Given the description of an element on the screen output the (x, y) to click on. 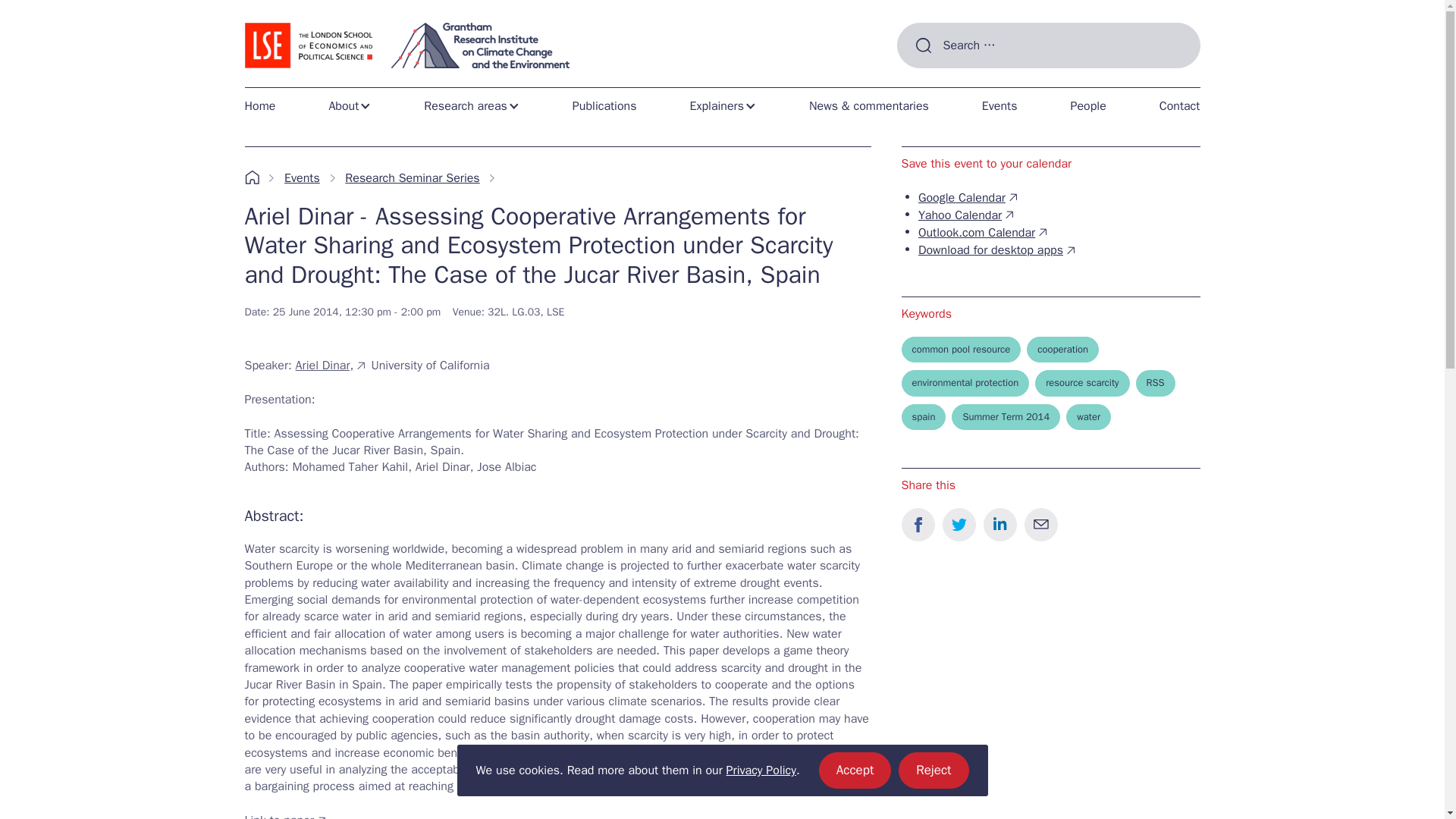
Download for desktop apps (997, 249)
Research areas (471, 105)
Search (922, 80)
Yahoo Calendar (967, 215)
Search (854, 770)
Research areas (922, 80)
Explainers (471, 105)
Outlook.com Calendar (722, 105)
Privacy Policy (983, 232)
Publications (761, 770)
Home (604, 105)
Explainers (265, 105)
Search (722, 105)
